Given the description of an element on the screen output the (x, y) to click on. 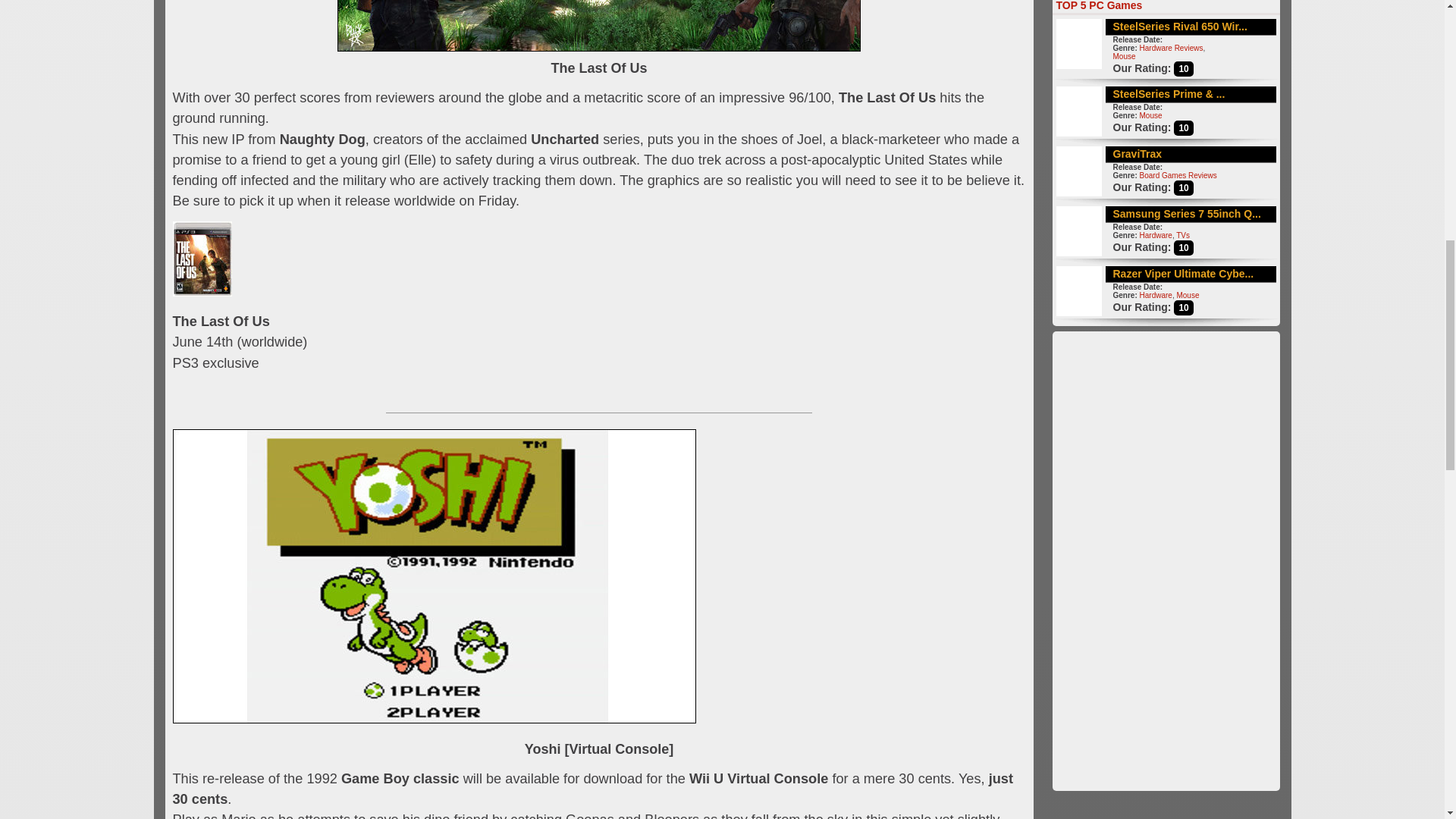
SteelSeries Rival 650 Wireless Gaming Mouse Review (1180, 26)
Razer Viper Ultimate Cyberpunk 2077 Edition (1183, 273)
GraviTrax Review (1137, 153)
Samsung Series 7 55inch Q7 UHD QLED TV Review (1186, 214)
